Given the description of an element on the screen output the (x, y) to click on. 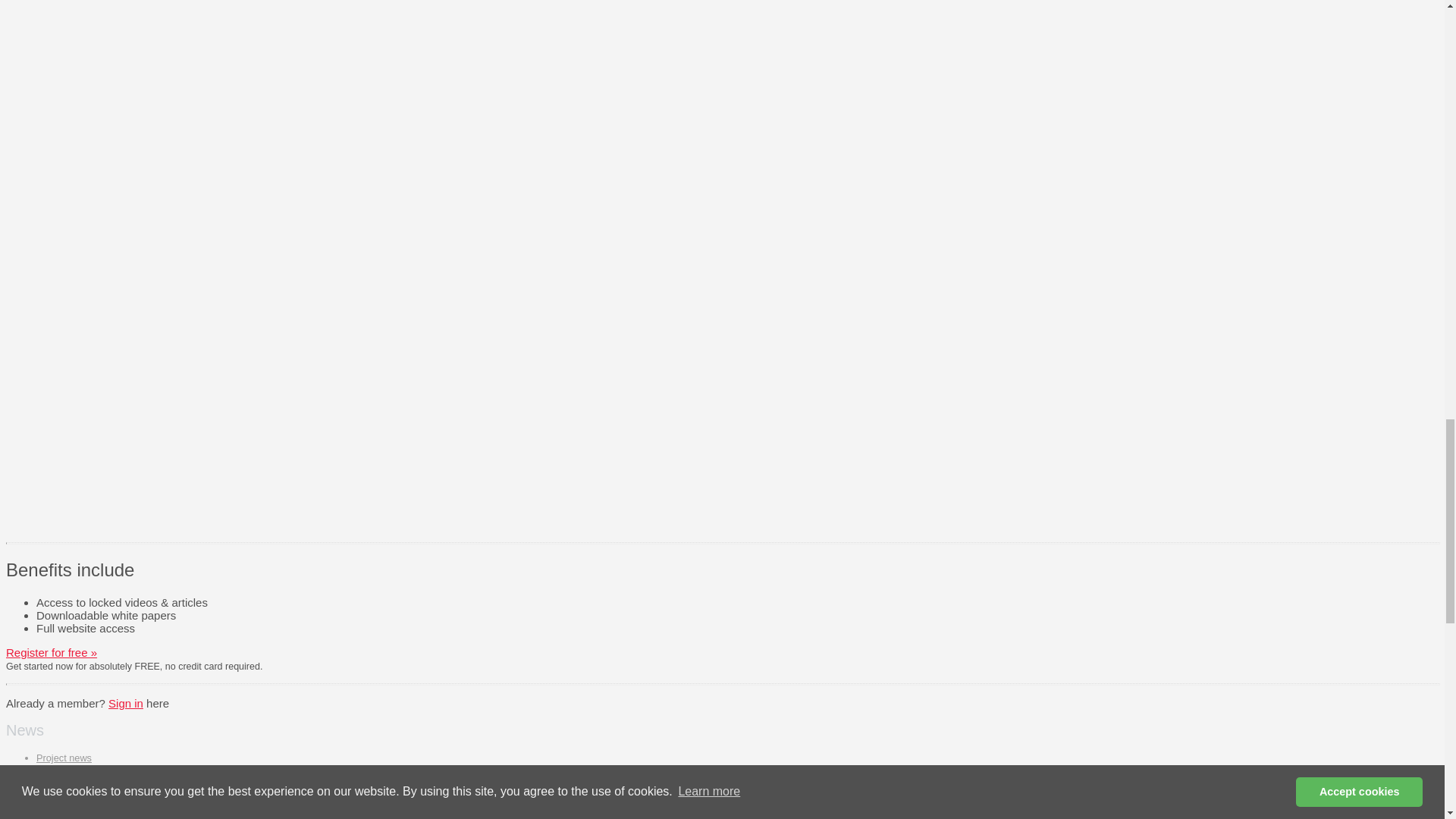
Project news (63, 757)
3rd party ad content (774, 432)
3rd party ad content (774, 54)
3rd party ad content (774, 223)
Sign in (124, 703)
